Given the description of an element on the screen output the (x, y) to click on. 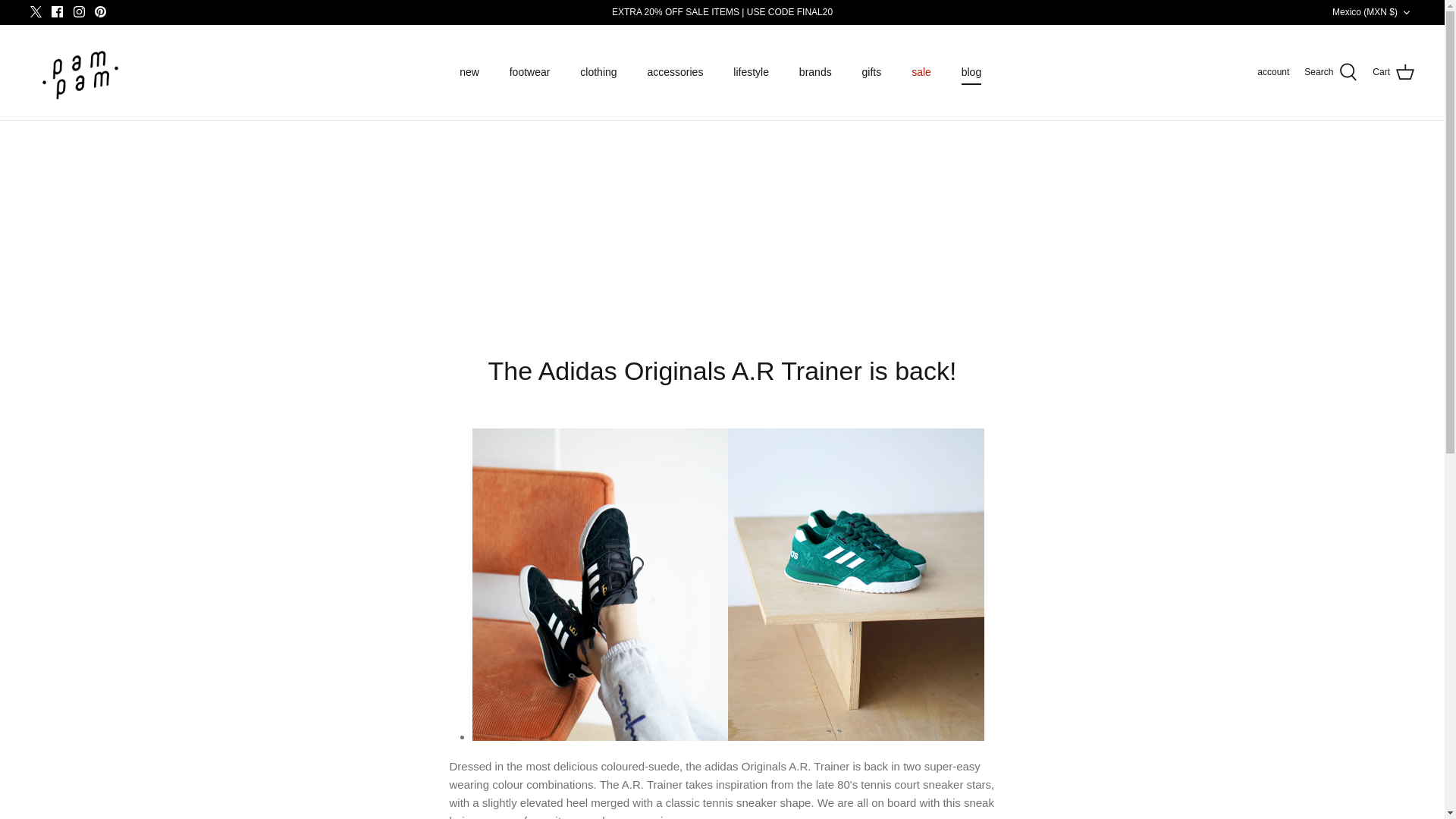
Facebook (56, 11)
Facebook (56, 11)
Instagram (79, 11)
Down (1406, 12)
pam pam  (79, 72)
Instagram (79, 11)
Pinterest (100, 11)
Pinterest (100, 11)
